Given the description of an element on the screen output the (x, y) to click on. 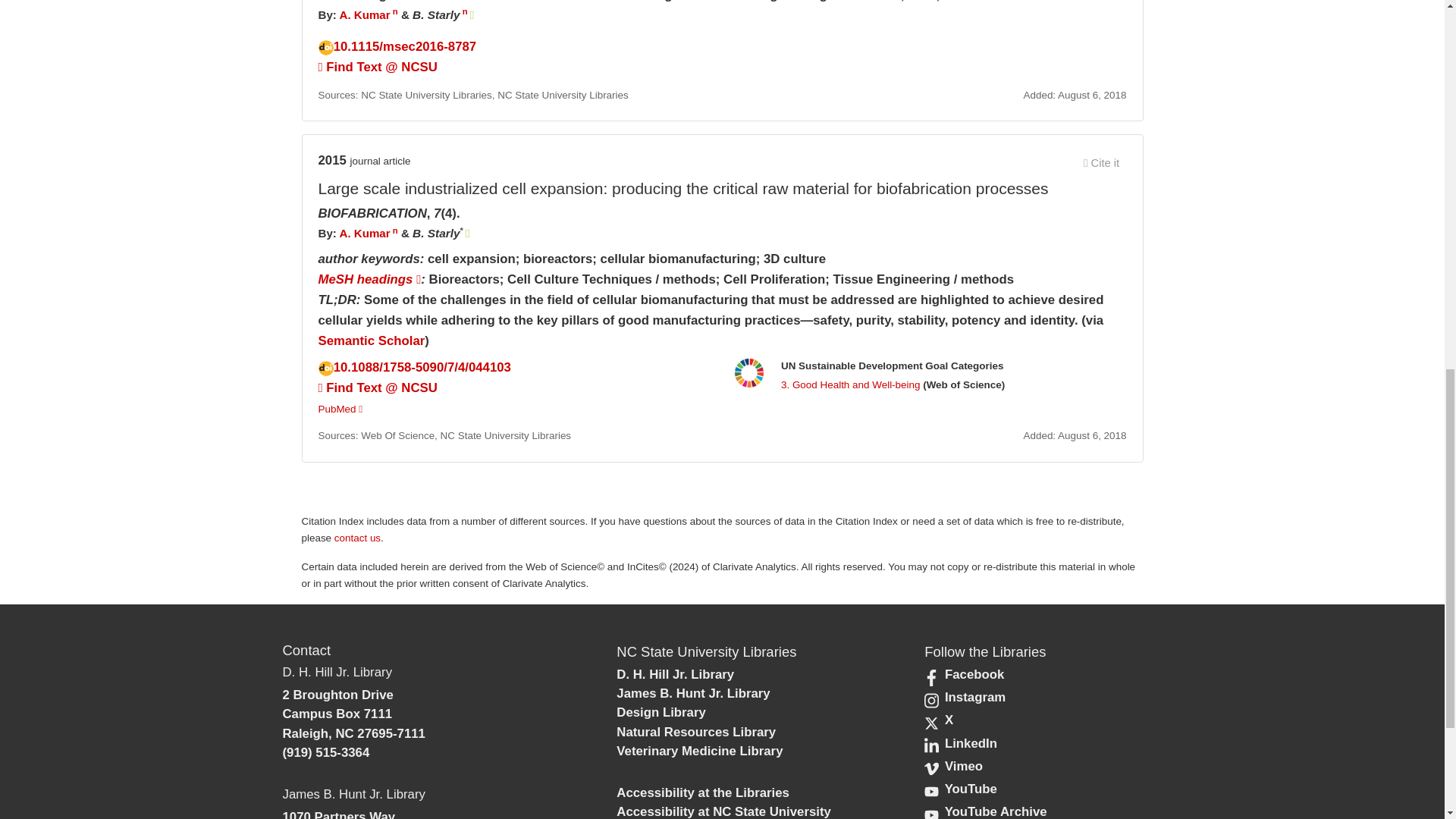
Cite it (1101, 162)
Search for works related to SDG 3 (850, 384)
A. Kumar (364, 232)
Semantic Scholar (371, 340)
A. Kumar (364, 14)
Binil Starly - Binil Starly -  (436, 232)
MeSH headings (370, 278)
